Given the description of an element on the screen output the (x, y) to click on. 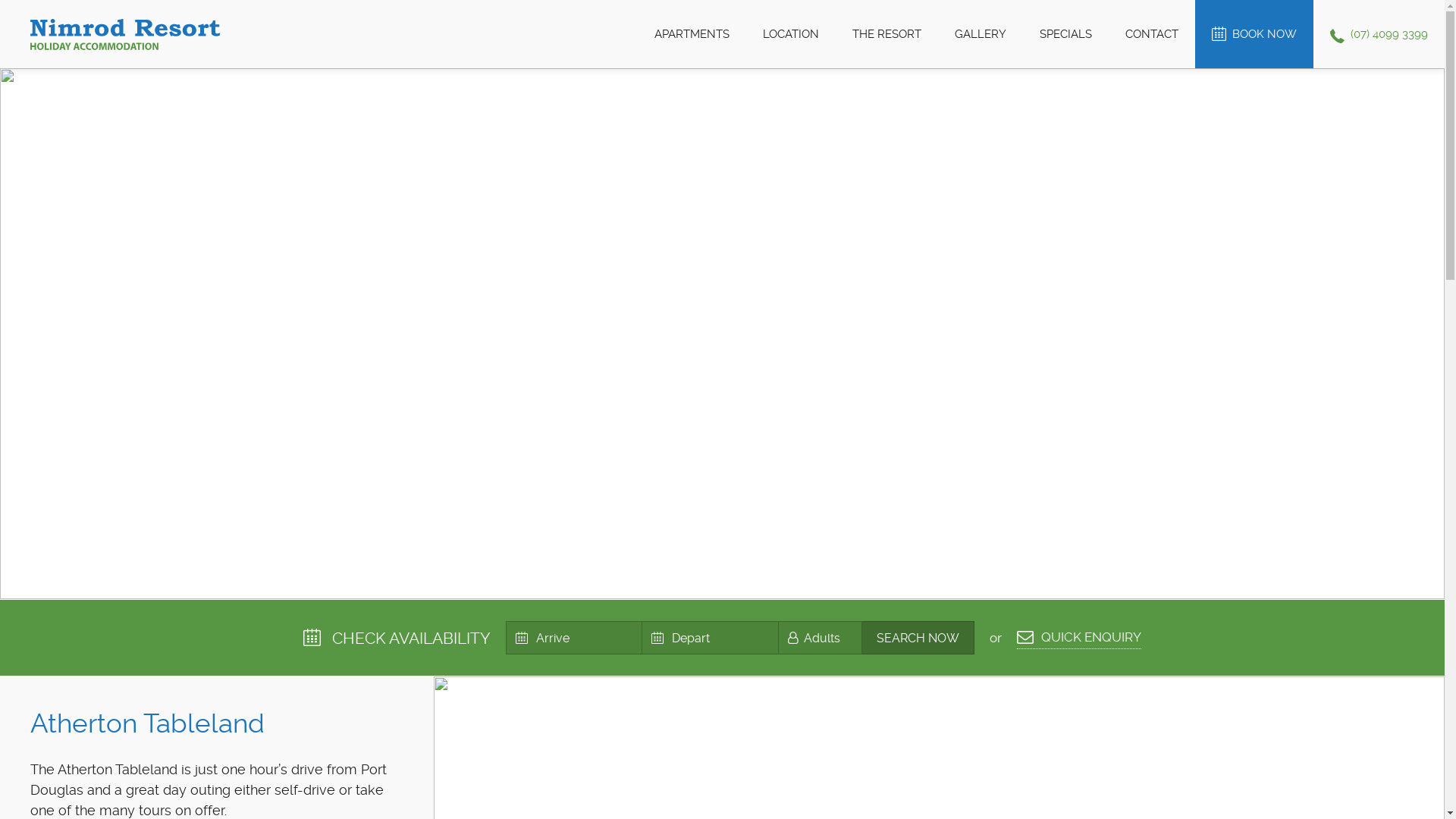
Search Now Element type: text (918, 637)
LOCATION Element type: text (790, 34)
APARTMENTS Element type: text (691, 34)
Nimrod Resort Element type: hover (124, 34)
GALLERY Element type: text (980, 34)
QUICK ENQUIRY Element type: text (1078, 639)
(07) 4099 3399 Element type: text (1378, 34)
SPECIALS Element type: text (1065, 34)
CONTACT Element type: text (1151, 34)
BOOK NOW Element type: text (1254, 34)
THE RESORT Element type: text (886, 34)
